Given the description of an element on the screen output the (x, y) to click on. 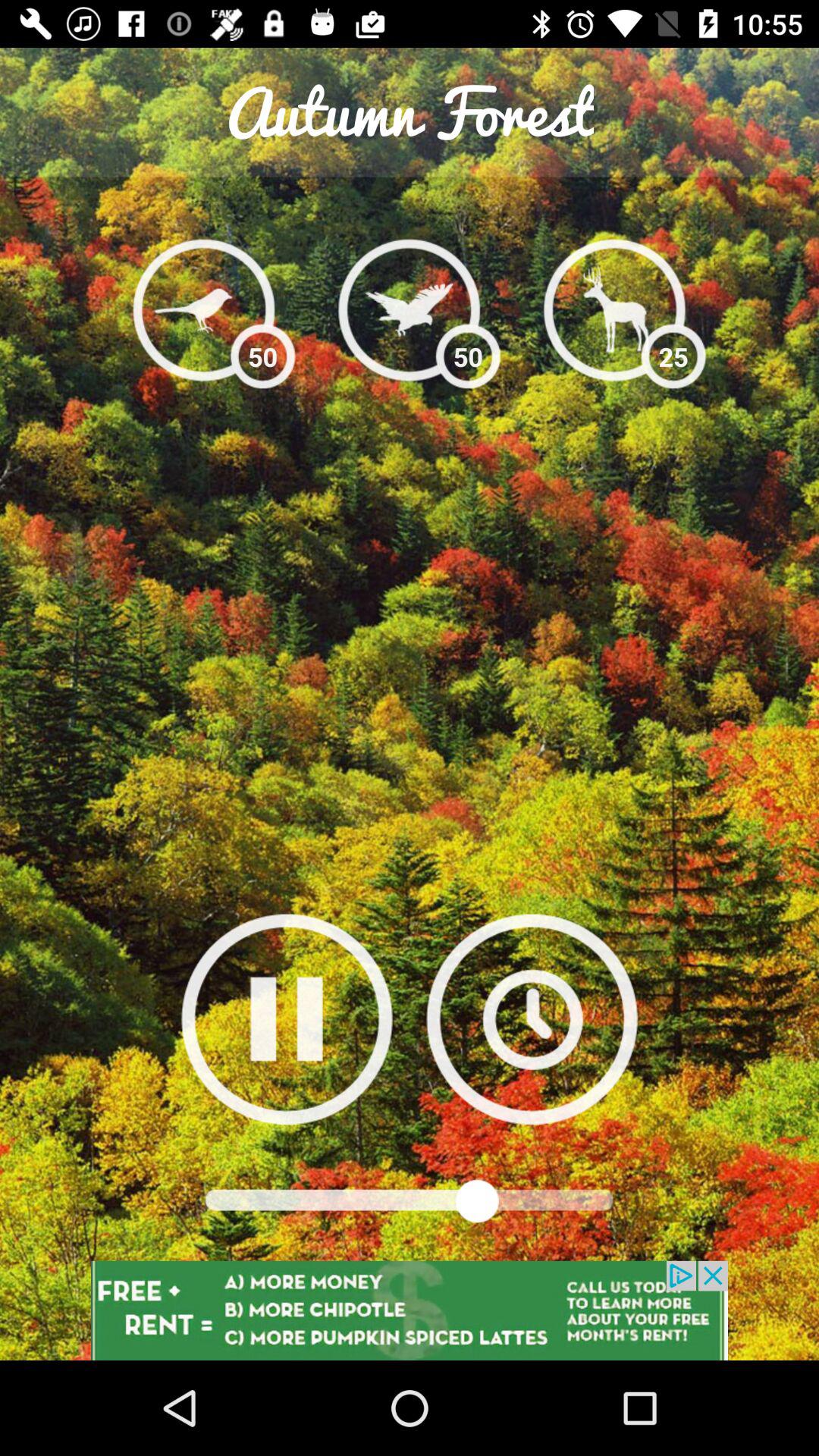
go to advertisement (409, 1310)
